Given the description of an element on the screen output the (x, y) to click on. 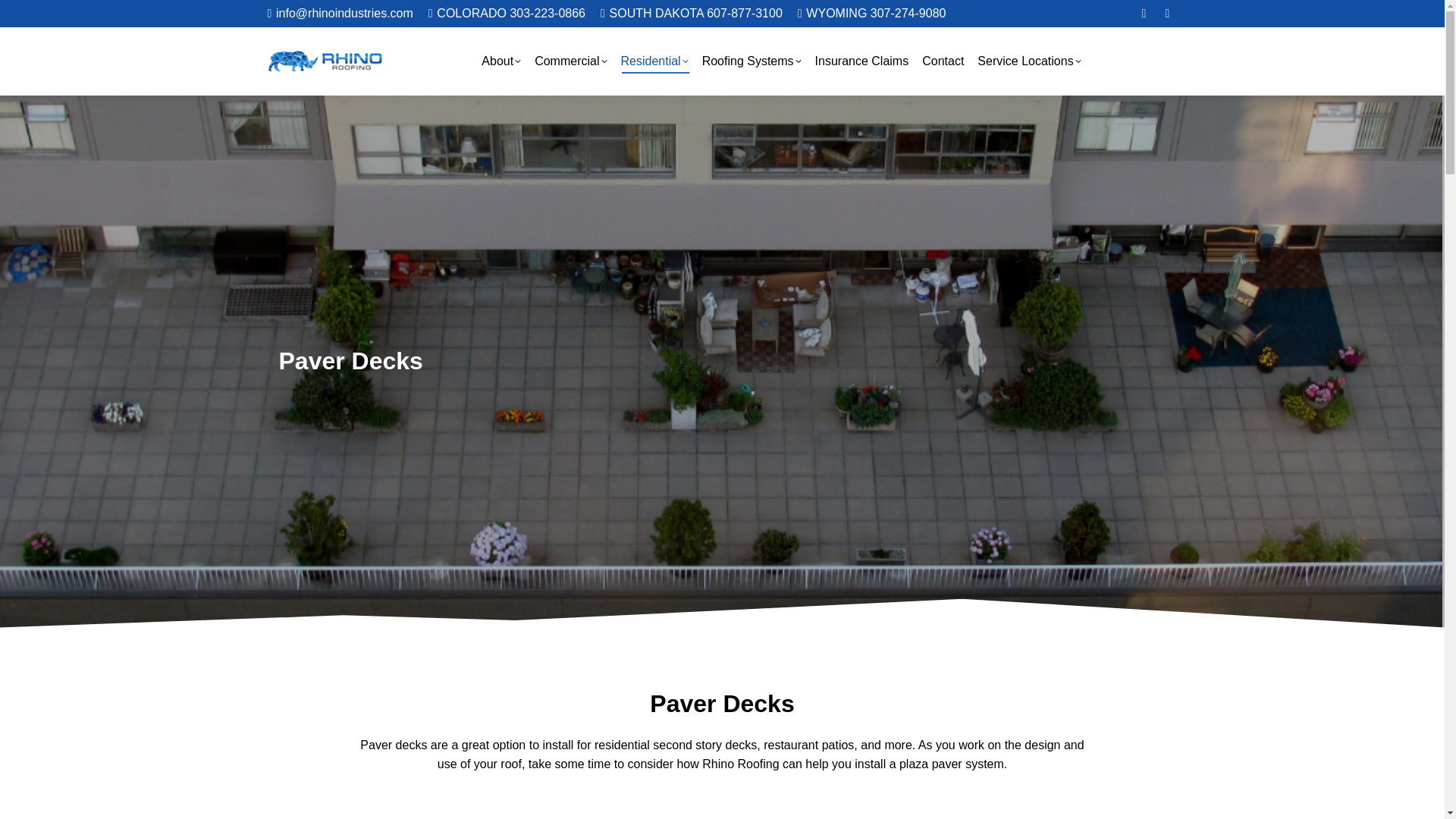
COLORADO 303-223-0866 (506, 13)
Roofing Systems (751, 61)
About Rhino Roofing LLC (501, 61)
Commercial Roofing Services (570, 61)
Residential Roofing Services (653, 61)
WYOMING 307-274-9080 (871, 13)
Residential (653, 61)
Facebook page opens in new window (1144, 13)
Contact (942, 61)
SOUTH DAKOTA 607-877-3100 (691, 13)
About (501, 61)
Twitter page opens in new window (1166, 13)
Insurance Claims (862, 61)
Commercial (570, 61)
Service Locations (1028, 61)
